Given the description of an element on the screen output the (x, y) to click on. 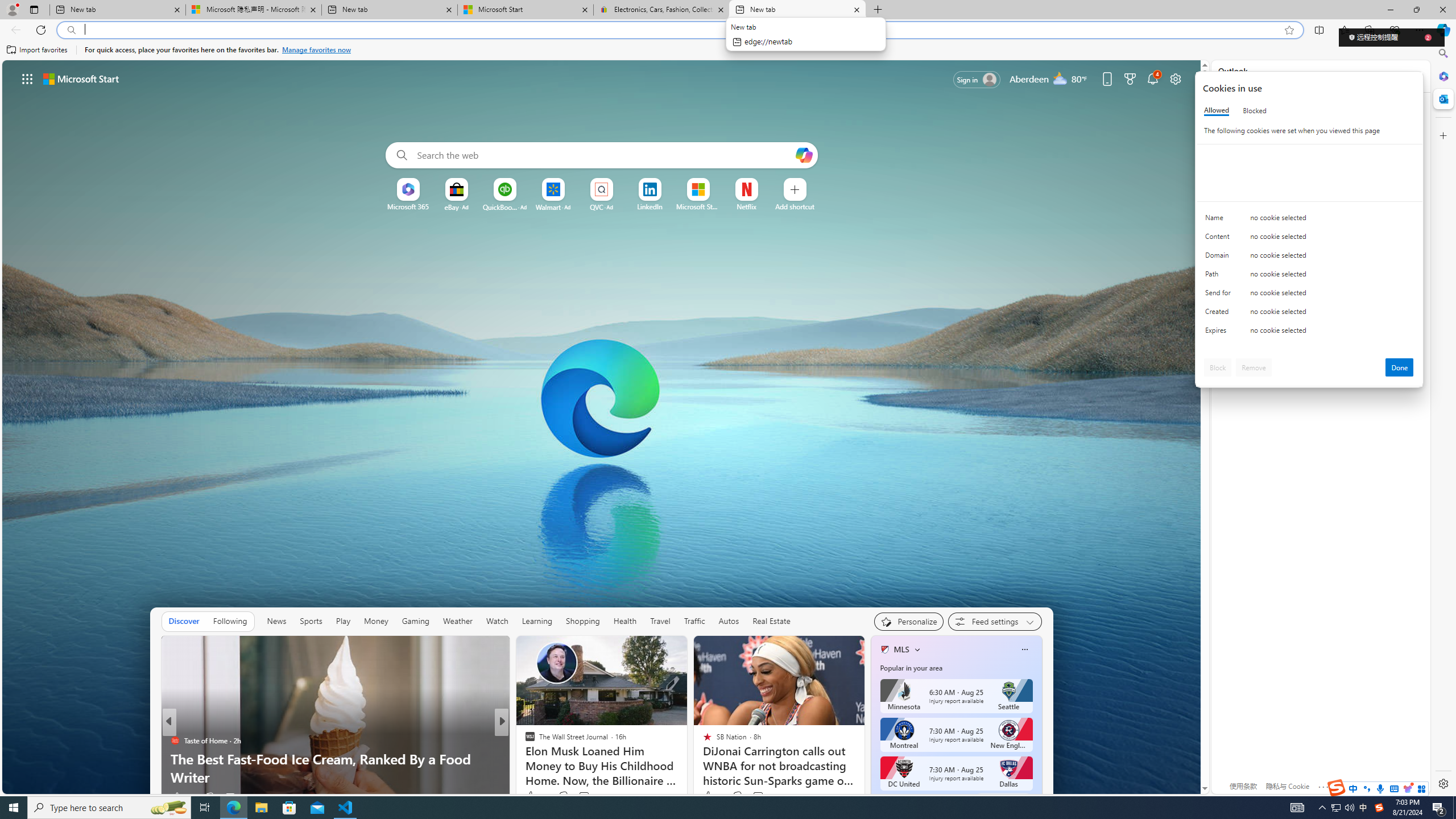
Gaming (415, 621)
Favorites bar (715, 49)
View comments 62 Comment (580, 797)
71 Like (530, 796)
Sports (310, 621)
